Given the description of an element on the screen output the (x, y) to click on. 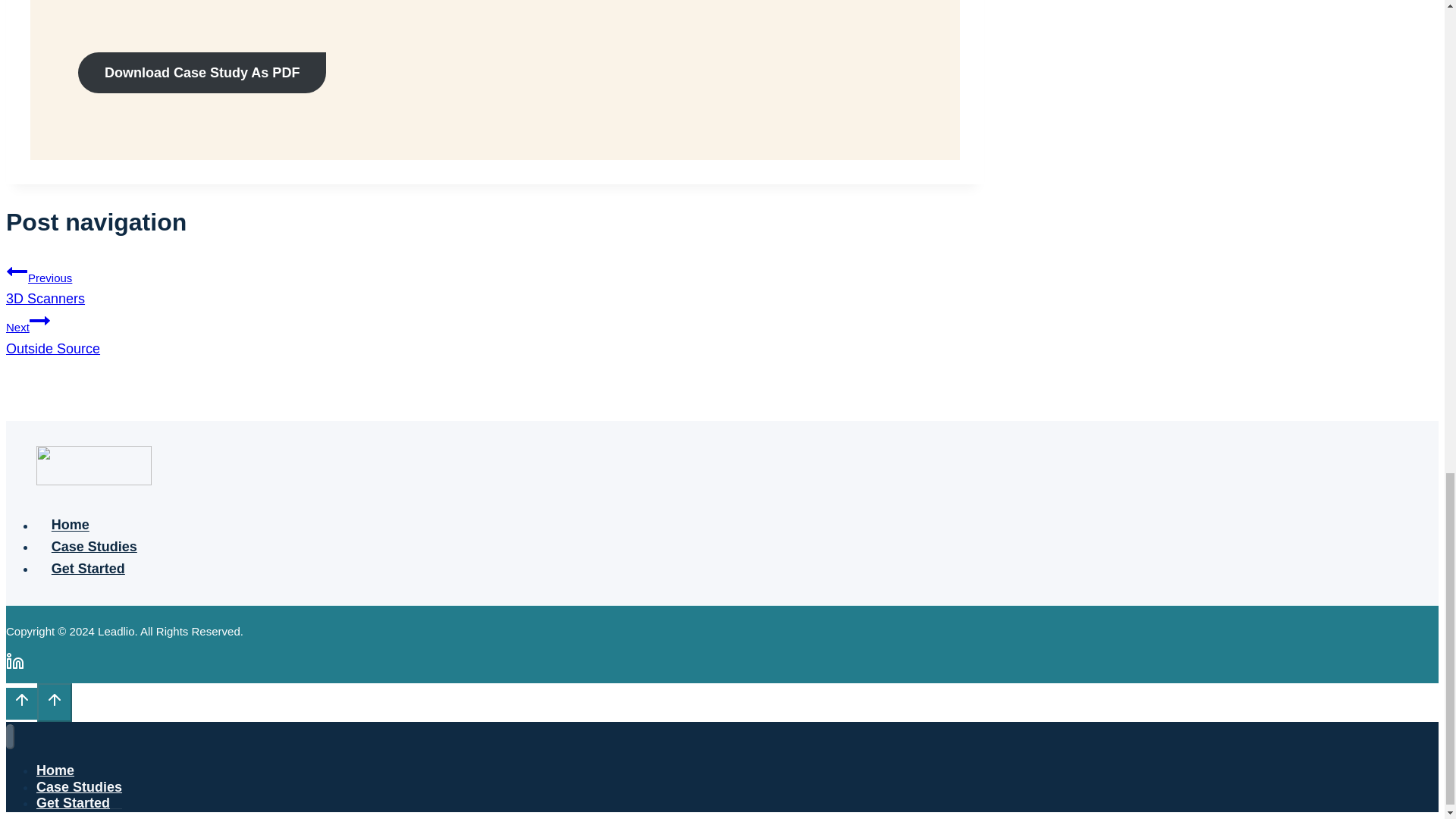
Scroll to top (21, 703)
Scroll to top (494, 333)
Continue (21, 703)
Case Studies (39, 320)
Scroll To Top (94, 546)
Download Case Study As PDF (54, 700)
Case Studies (202, 72)
Home (79, 787)
Linkedin (70, 525)
Previous (494, 284)
Linkedin (14, 660)
Get Started (16, 271)
Scroll to top (14, 664)
